Given the description of an element on the screen output the (x, y) to click on. 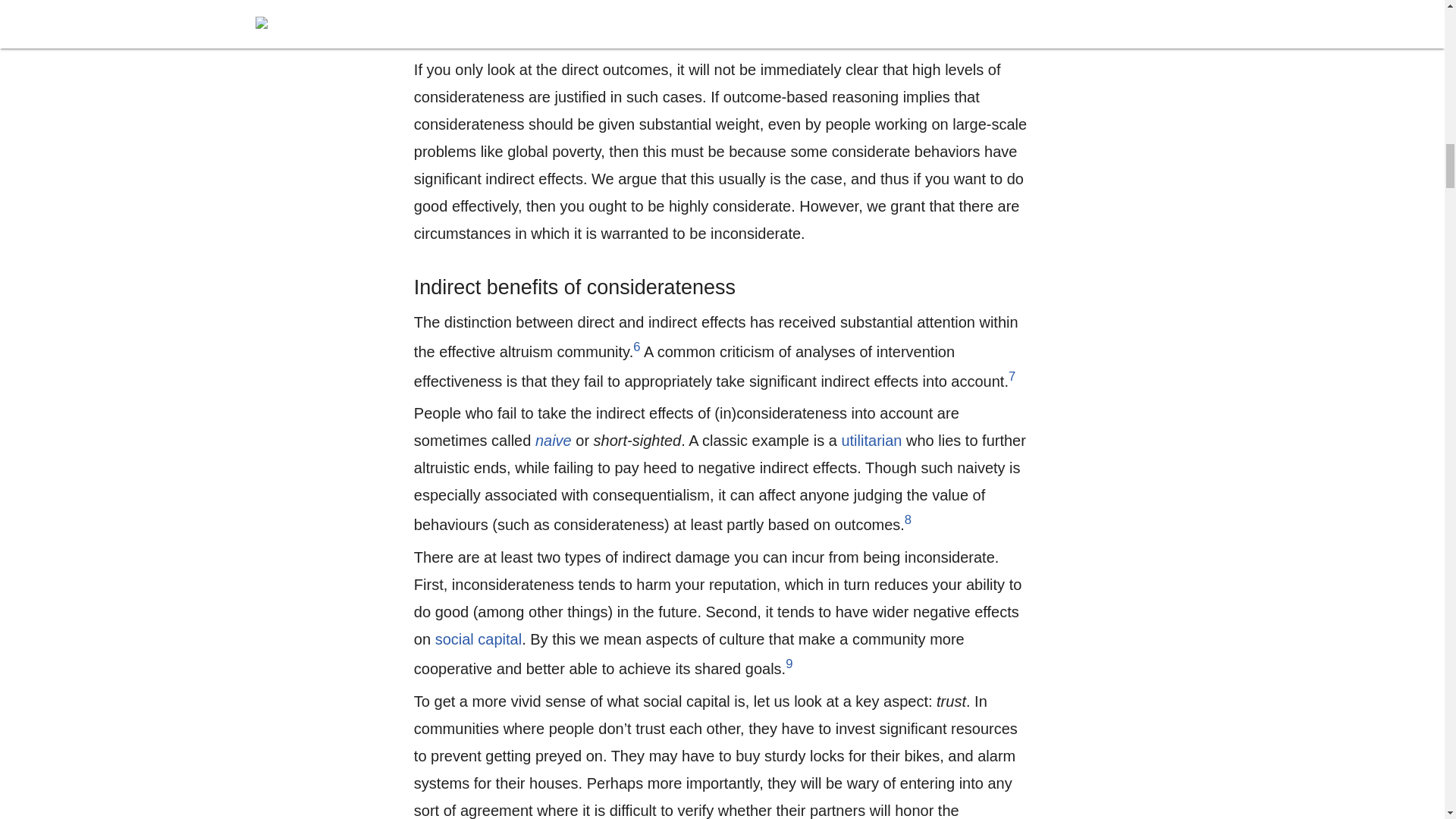
social (454, 638)
utilitarian (871, 440)
capital (499, 638)
naive (553, 440)
